Given the description of an element on the screen output the (x, y) to click on. 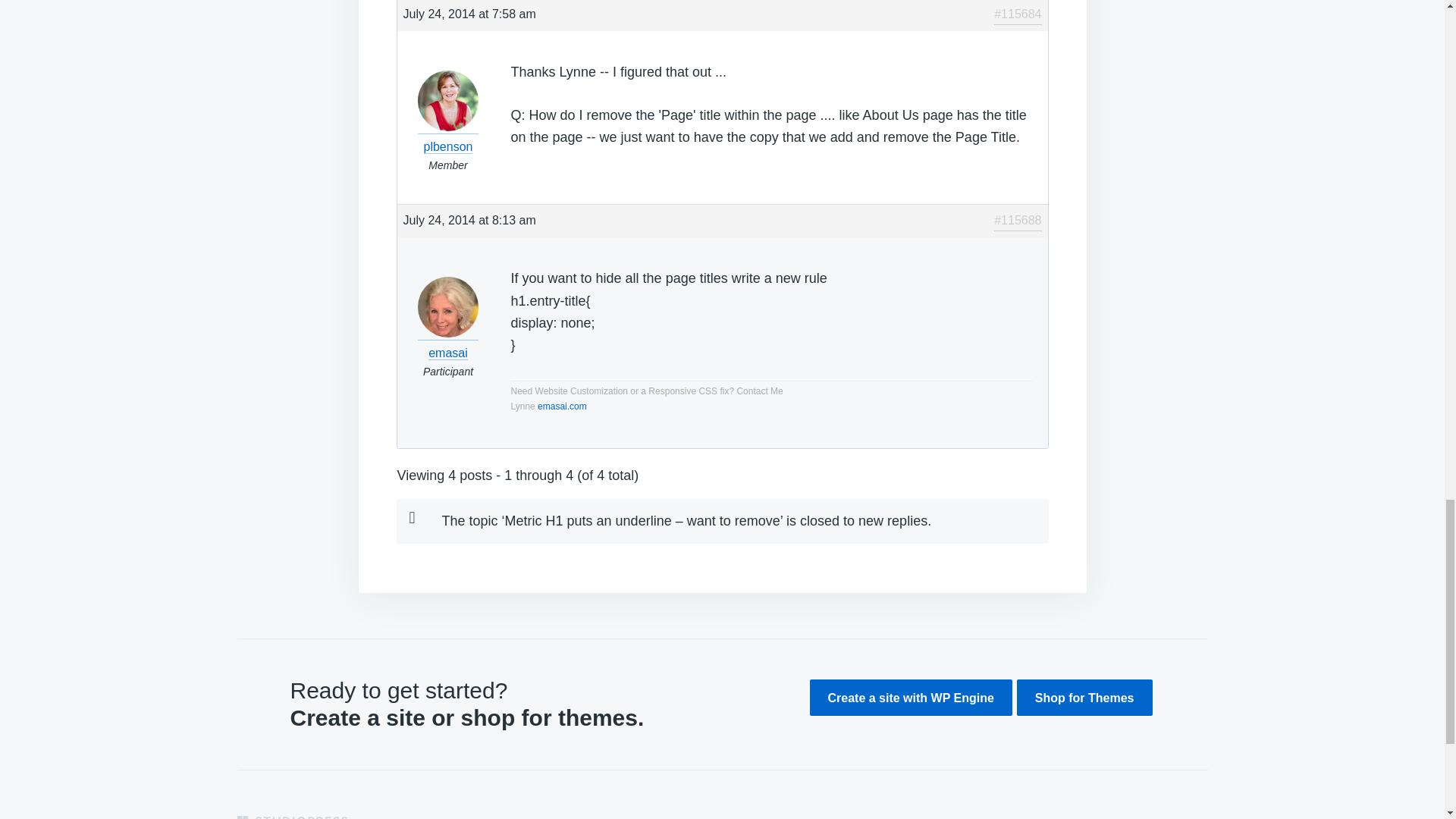
View emasai's profile (448, 343)
View plbenson's profile (448, 136)
